Given the description of an element on the screen output the (x, y) to click on. 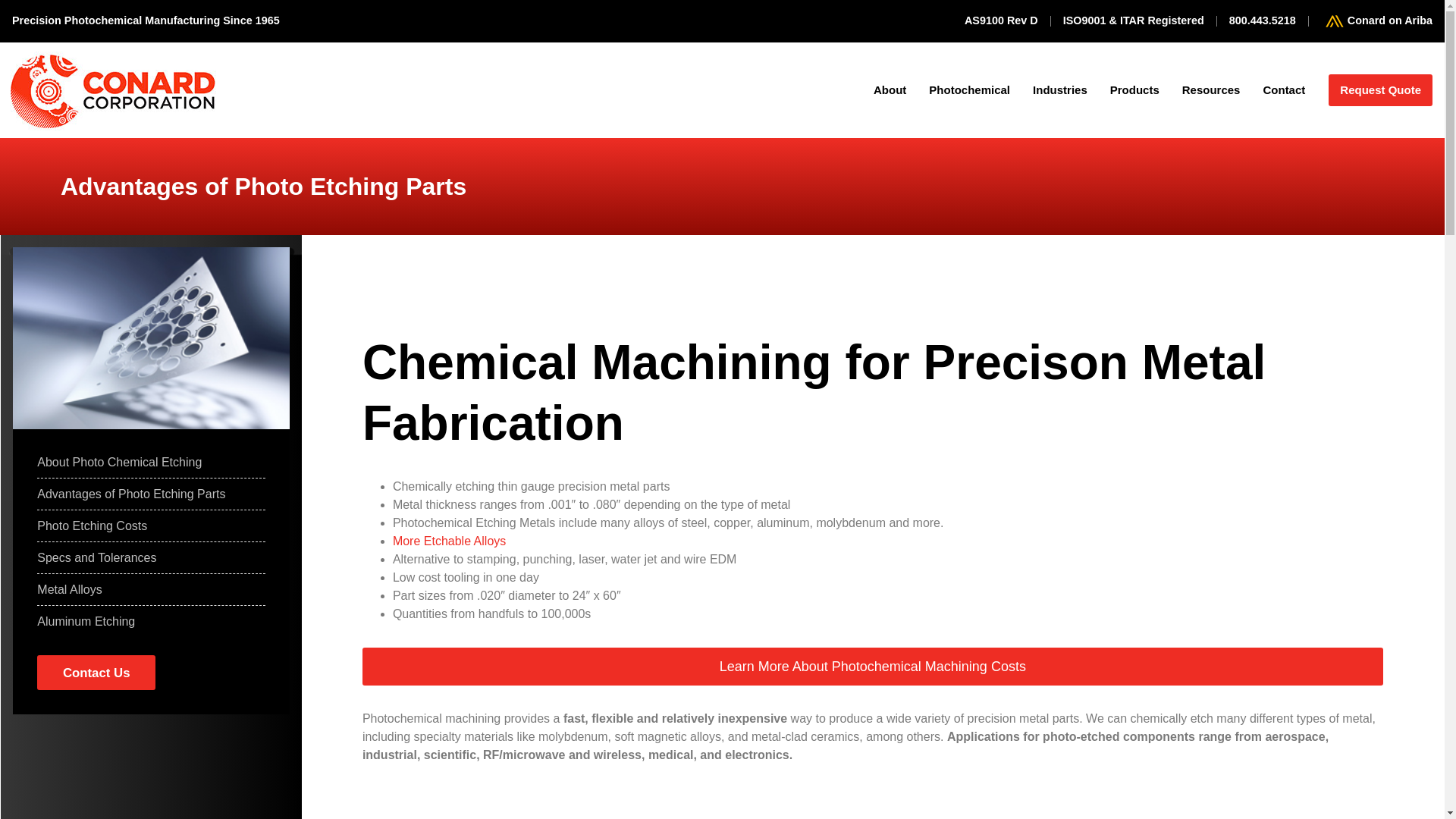
Conard on Ariba (1376, 21)
Resources (1211, 90)
About (889, 90)
Industries (1060, 90)
AS9100 Rev D (1000, 21)
Products (1134, 90)
Photochemical (969, 90)
800.443.5218 (1261, 21)
Contact (1283, 90)
